Given the description of an element on the screen output the (x, y) to click on. 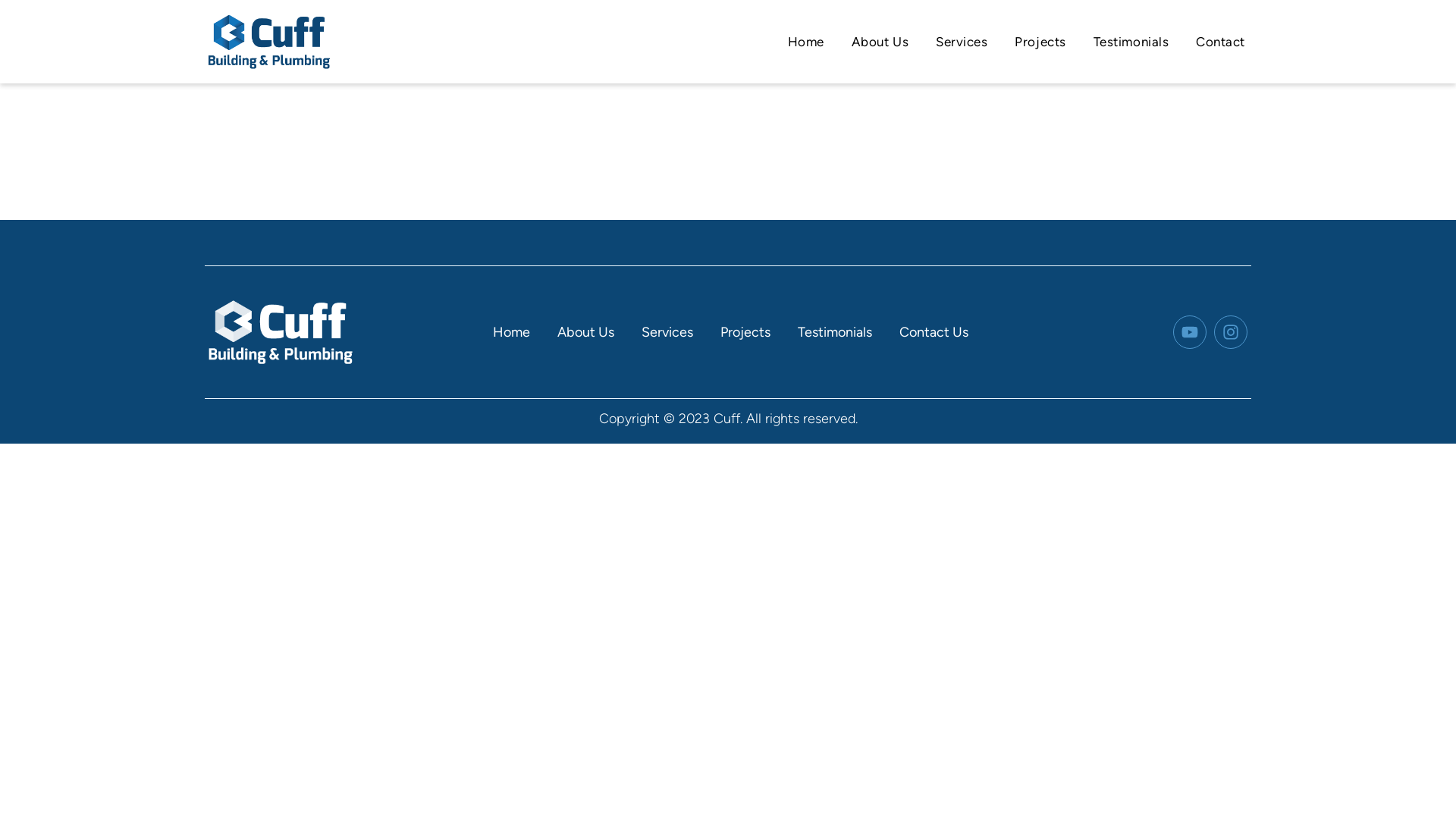
Contact Element type: text (1220, 41)
Home Element type: text (511, 332)
Contact Us Element type: text (933, 332)
Projects Element type: text (745, 332)
Services Element type: text (961, 41)
About Us Element type: text (585, 332)
Projects Element type: text (1039, 41)
Testimonials Element type: text (834, 332)
Testimonials Element type: text (1130, 41)
Home Element type: text (805, 41)
Services Element type: text (667, 332)
About Us Element type: text (879, 41)
